Given the description of an element on the screen output the (x, y) to click on. 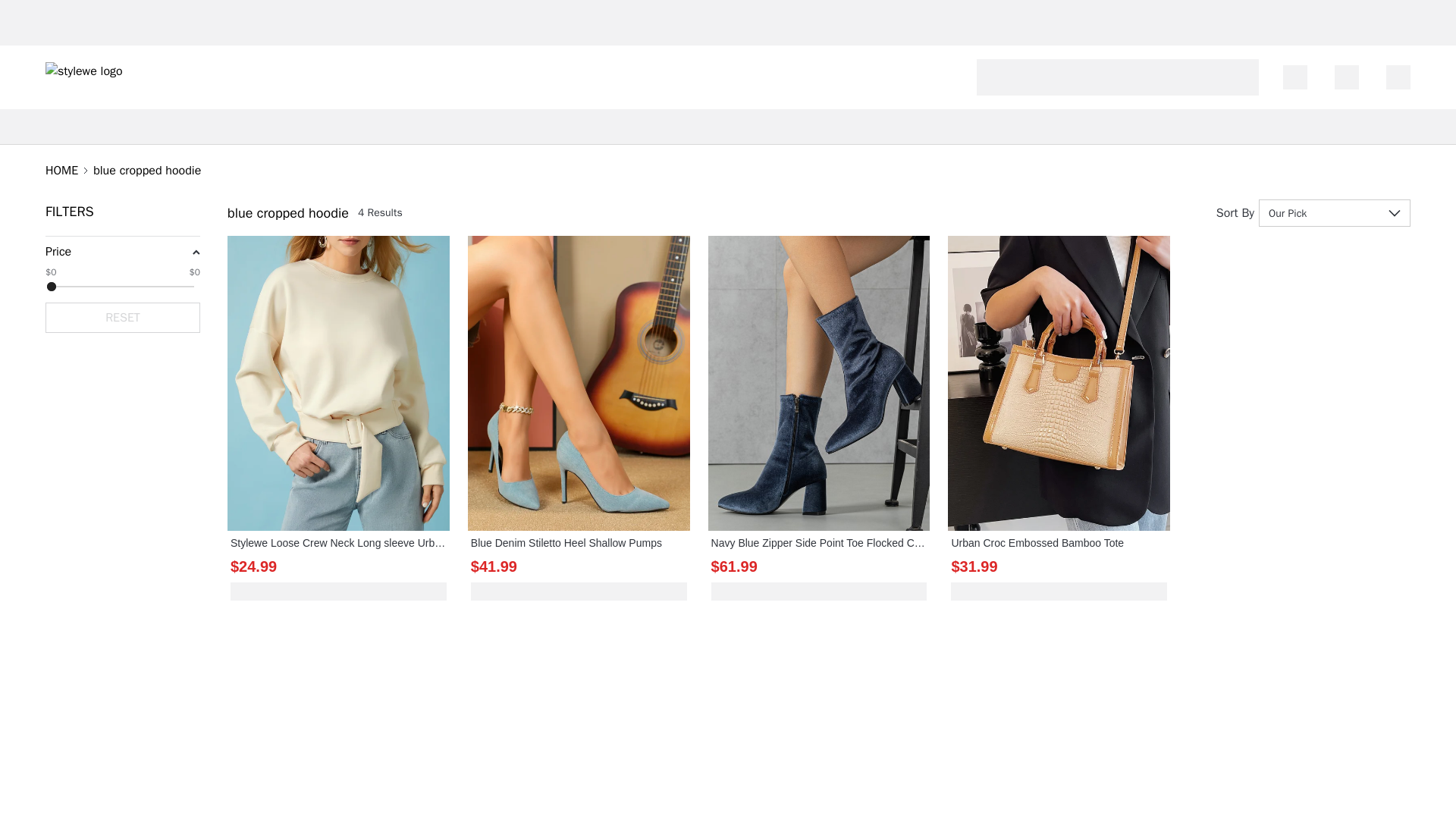
Blue Denim Stiletto Heel Shallow Pumps (578, 542)
Urban Croc Embossed Bamboo Tote (1058, 542)
RESET (122, 317)
HOME (61, 170)
Urban Croc Embossed Bamboo Tote (1058, 542)
Blue Denim Stiletto Heel Shallow Pumps (578, 542)
Stylewe Loose Crew Neck Long sleeve Urban Plain Sweatshirt (338, 542)
Price (58, 251)
Stylewe Loose Crew Neck Long sleeve Urban Plain Sweatshirt (338, 542)
